Given the description of an element on the screen output the (x, y) to click on. 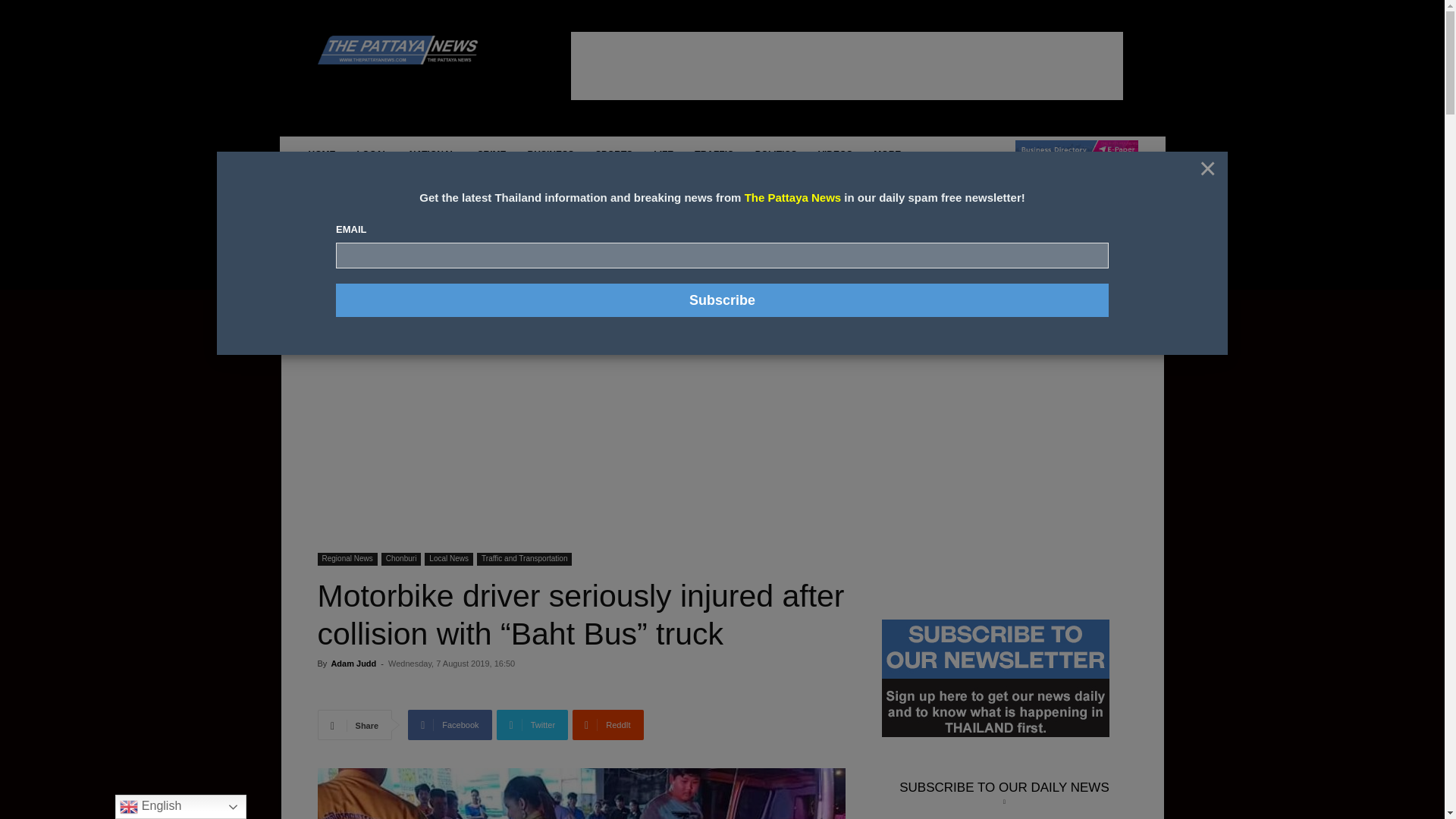
The Pattaya News.  Real. Unbiased. Impactful. In the moment. (400, 49)
BUSINESS (550, 154)
LIFE (663, 154)
Search (1099, 340)
LOCAL (371, 154)
The Pattaya News.  Real. Unbiased. Impactful. In the moment. (425, 49)
View all posts in Traffic and Transportation (408, 312)
